Given the description of an element on the screen output the (x, y) to click on. 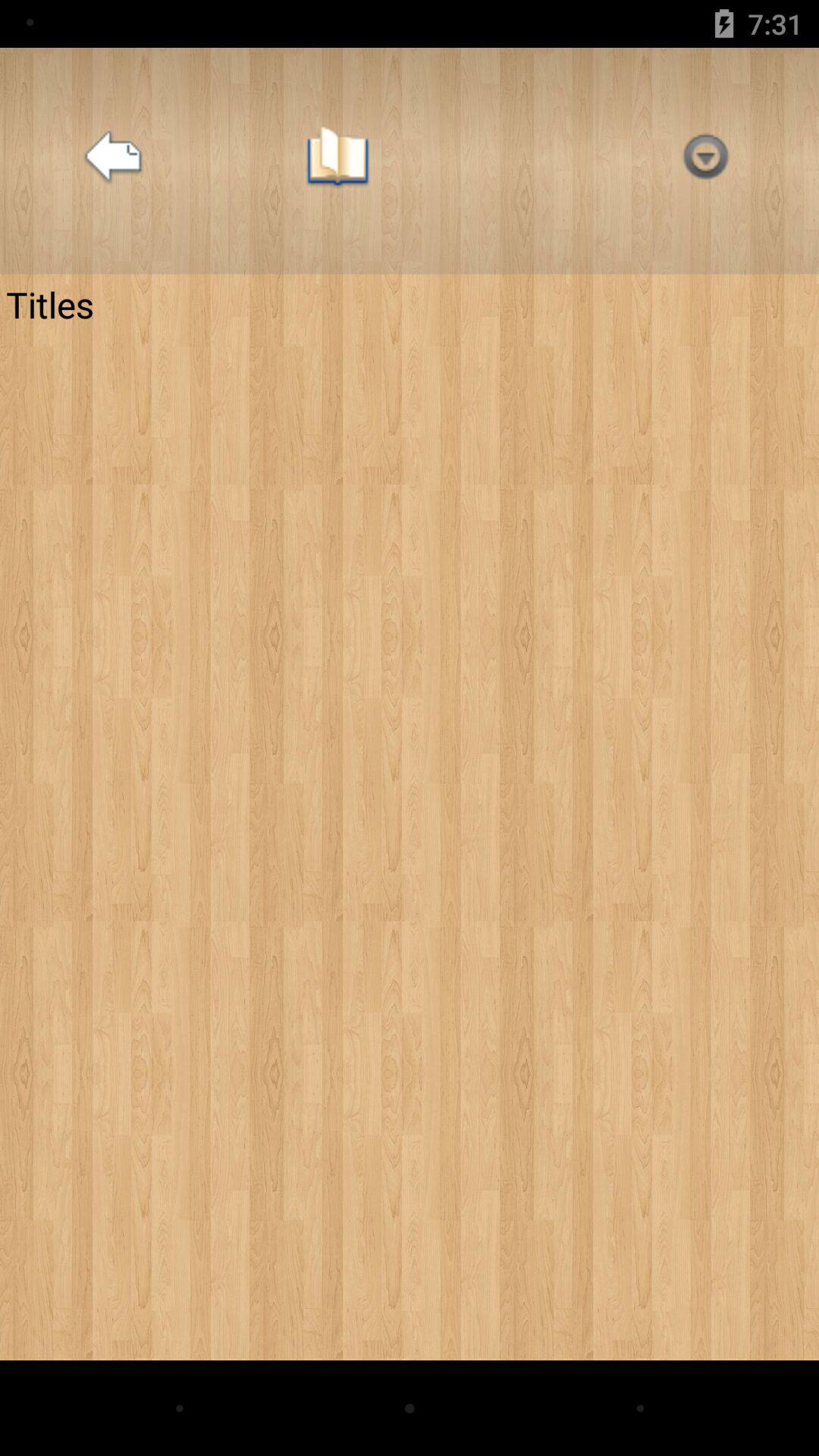
press app above titles app (705, 160)
